Given the description of an element on the screen output the (x, y) to click on. 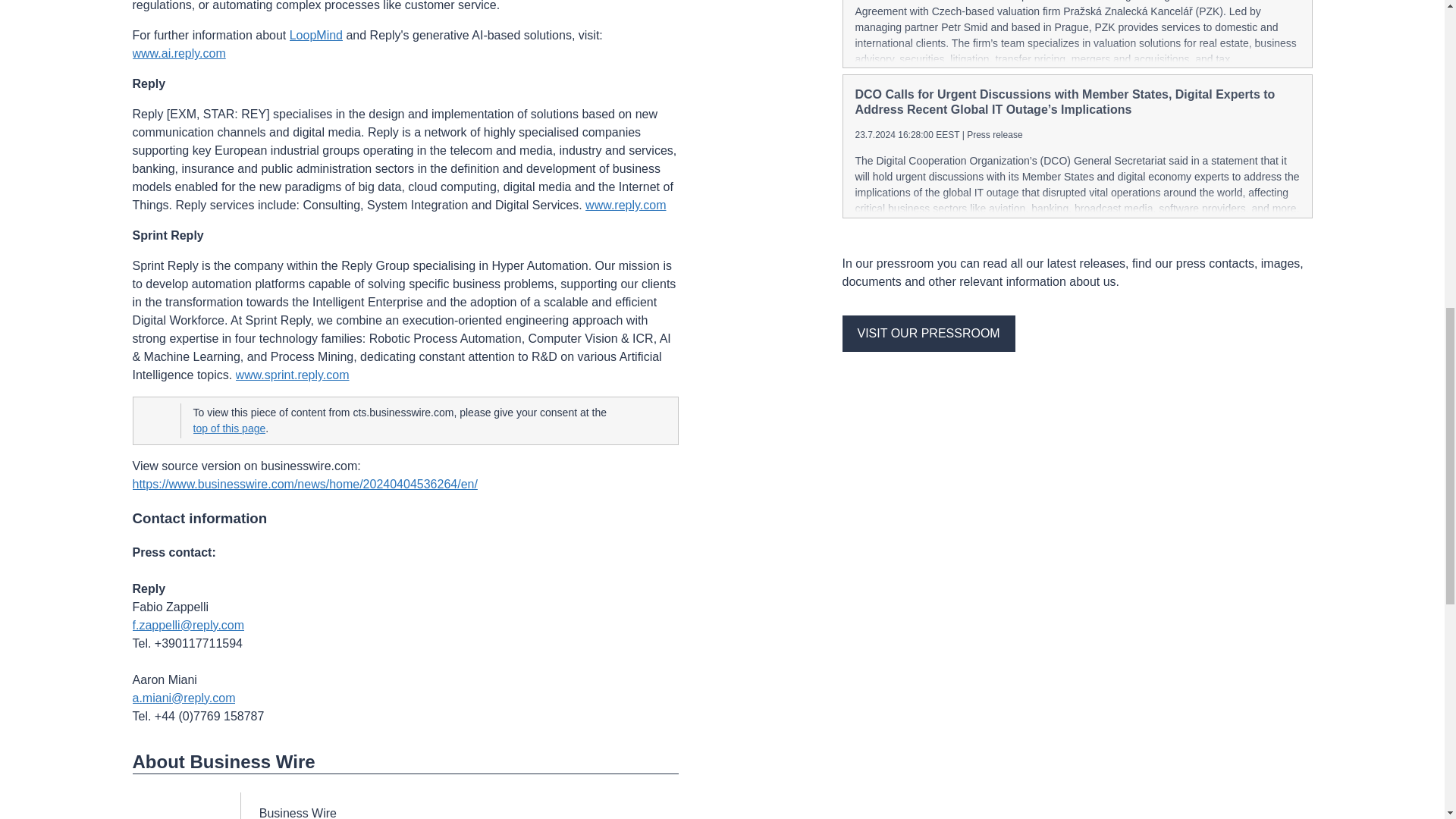
www.ai.reply.com (178, 54)
www.reply.com (625, 205)
VISIT OUR PRESSROOM (927, 333)
www.sprint.reply.com (292, 375)
LoopMind (315, 35)
top of this page (228, 428)
